Given the description of an element on the screen output the (x, y) to click on. 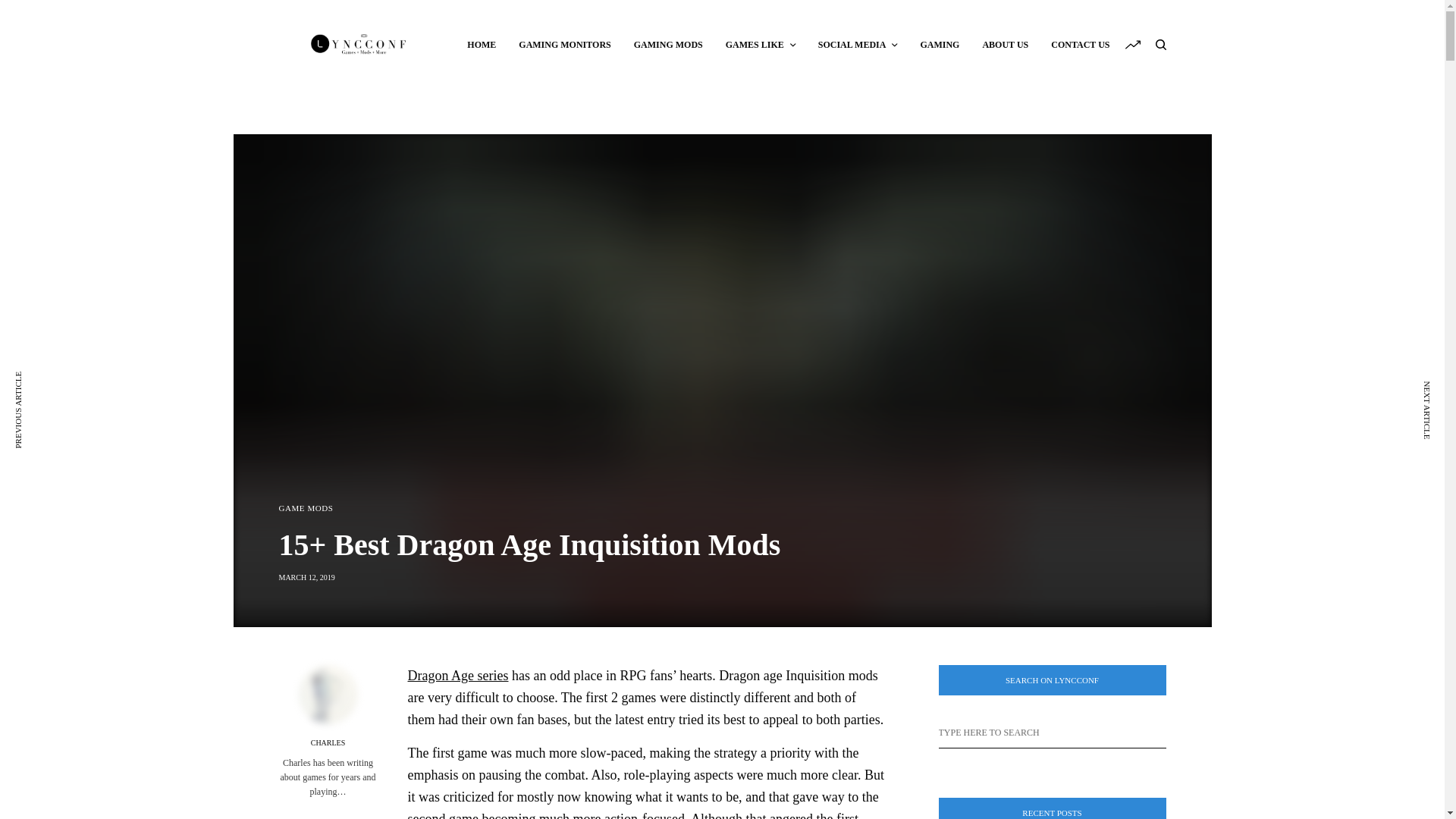
GAME MODS (306, 508)
GAMING MONITORS (564, 44)
SOCIAL MEDIA (858, 44)
LyncConf (360, 44)
CHARLES (328, 742)
Dragon Age series (457, 675)
